Given the description of an element on the screen output the (x, y) to click on. 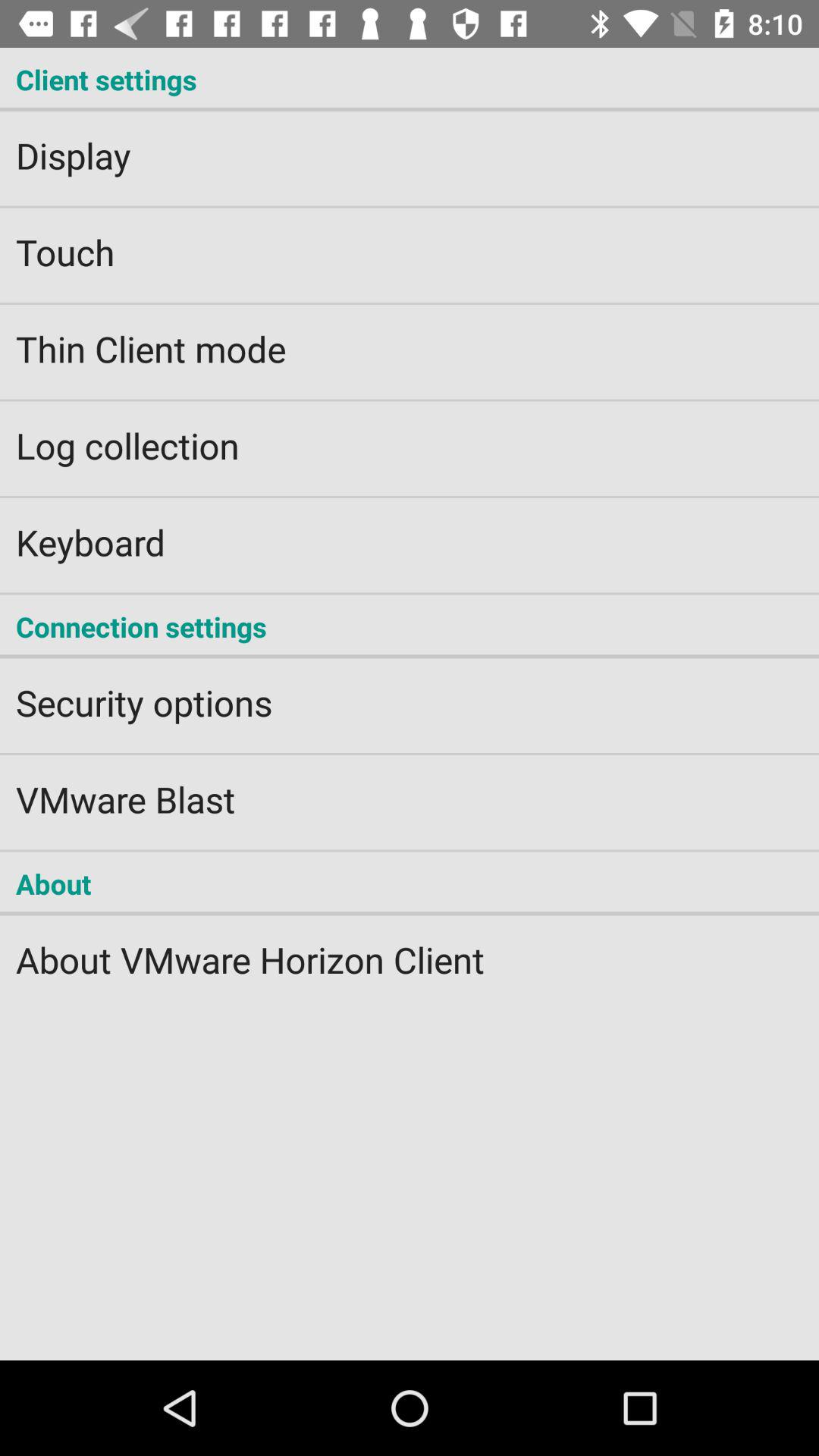
choose the item below the about app (409, 949)
